Given the description of an element on the screen output the (x, y) to click on. 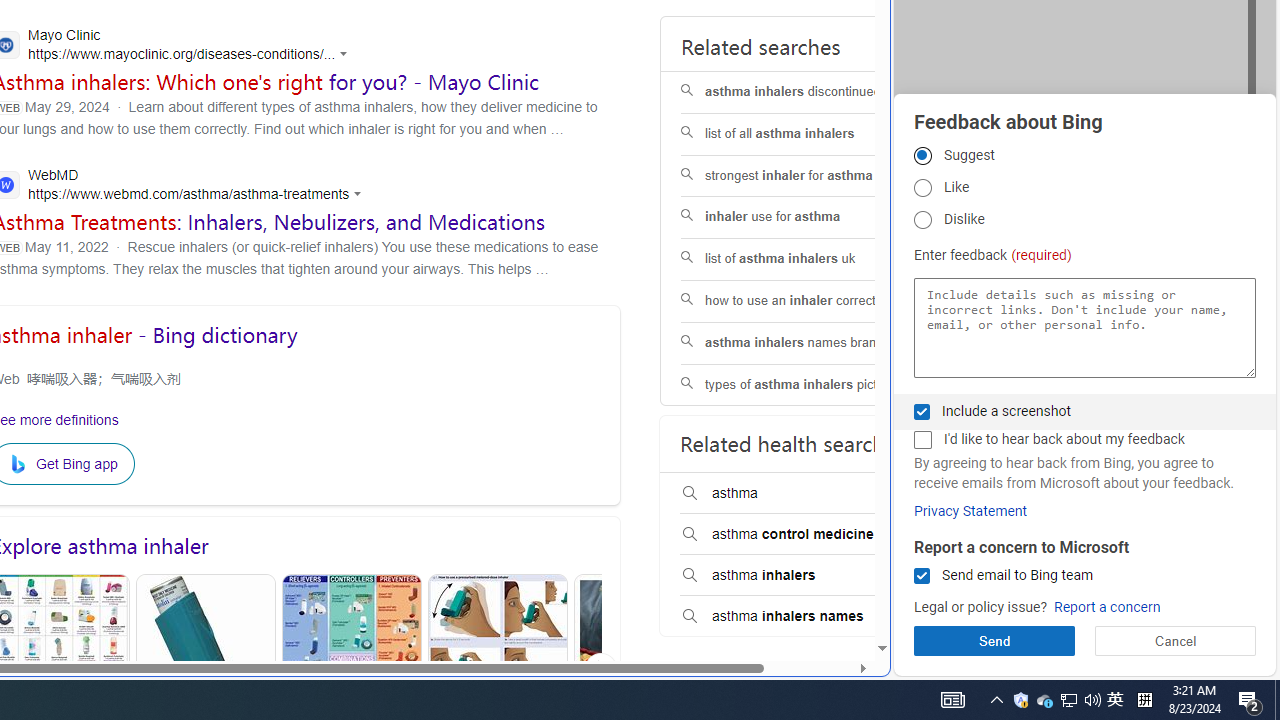
asthma inhalers (807, 575)
how to use an inhaler correctly (807, 301)
Suggest (922, 155)
types of asthma inhalers pictures (807, 385)
list of asthma inhalers uk (807, 259)
Cancel (1174, 640)
list of all asthma inhalers (807, 134)
asthma inhalers discontinued (807, 92)
